Given the description of an element on the screen output the (x, y) to click on. 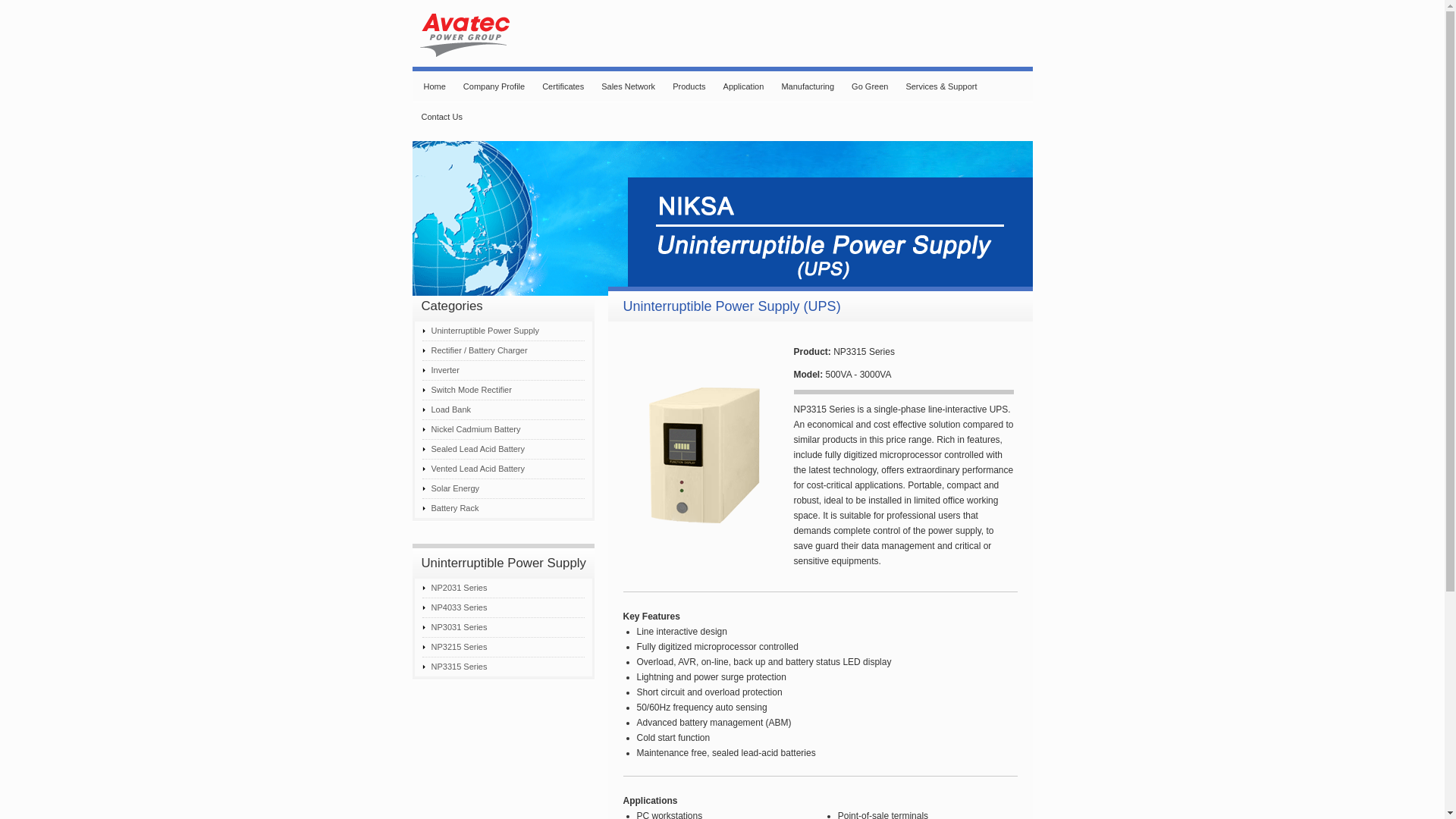
NP3031 Series (502, 628)
Contact Us (441, 116)
Load Bank (502, 410)
Home (432, 86)
NP3215 Series (502, 647)
Solar Energy (502, 488)
Uninterruptible Power Supply (502, 331)
Inverter (502, 370)
Go Green (869, 86)
NP4033 Series (502, 608)
Nickel Cadmium Battery (502, 429)
NP2031 Series (502, 588)
Company Profile (493, 86)
NP3315 Series (502, 666)
Sales Network (627, 86)
